Given the description of an element on the screen output the (x, y) to click on. 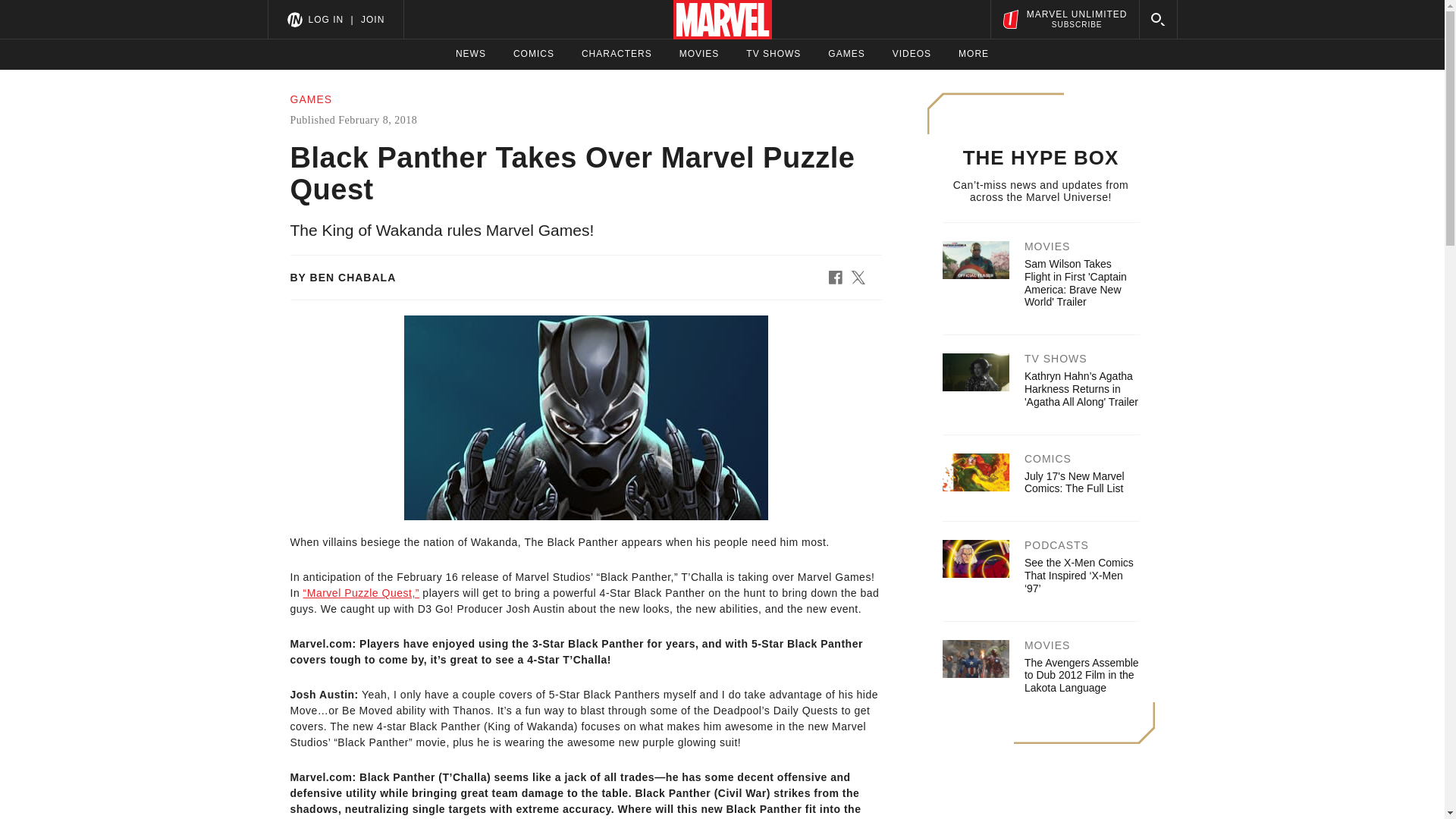
TV SHOWS (772, 54)
JOIN (372, 18)
LOG IN (1064, 19)
NEWS (325, 18)
July 17's New Marvel Comics: The Full List (470, 54)
MOVIES (1074, 482)
GAMES (699, 54)
VIDEOS (846, 54)
MORE (911, 54)
COMICS (973, 54)
CHARACTERS (533, 54)
